Given the description of an element on the screen output the (x, y) to click on. 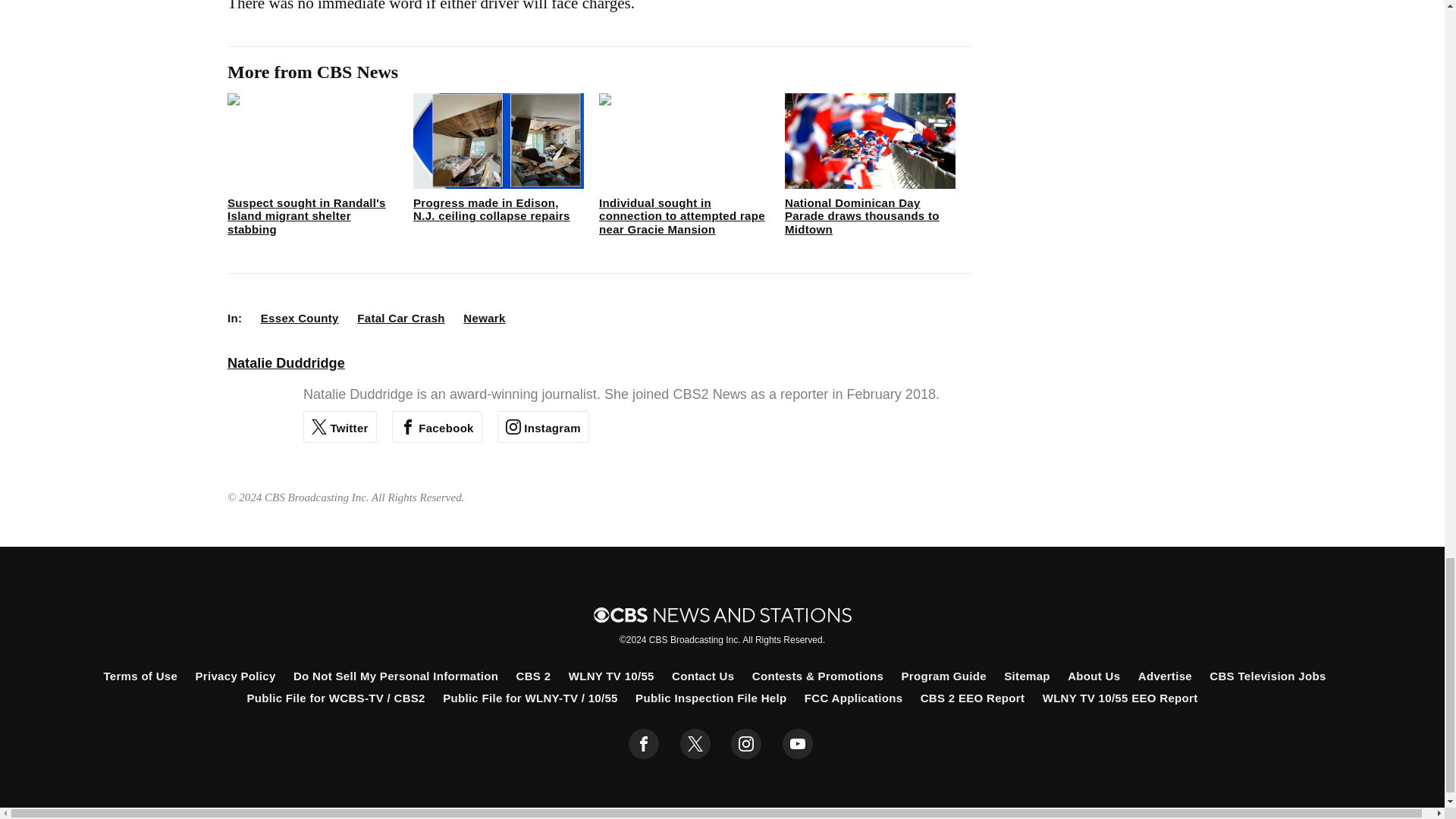
twitter (694, 743)
facebook (643, 743)
youtube (797, 743)
instagram (745, 743)
